Given the description of an element on the screen output the (x, y) to click on. 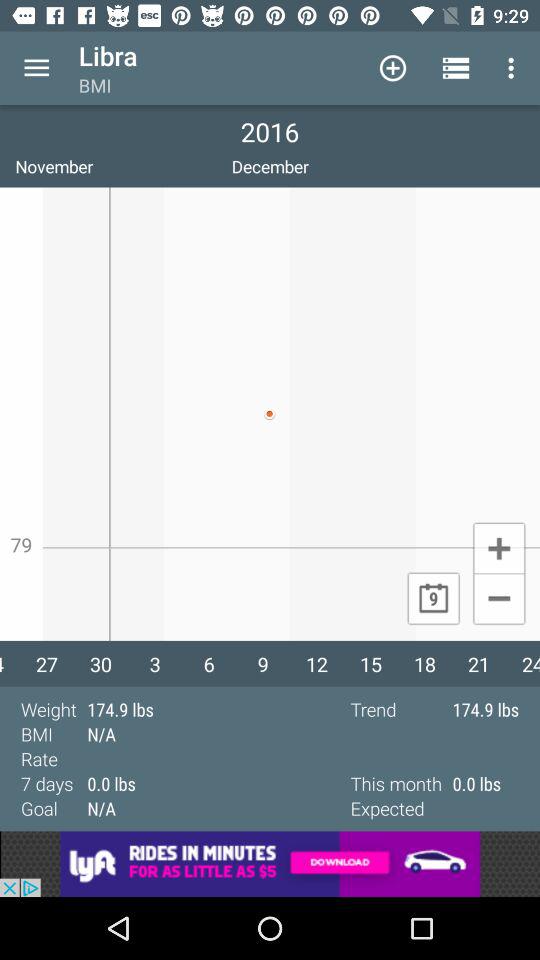
zoom in (498, 547)
